Given the description of an element on the screen output the (x, y) to click on. 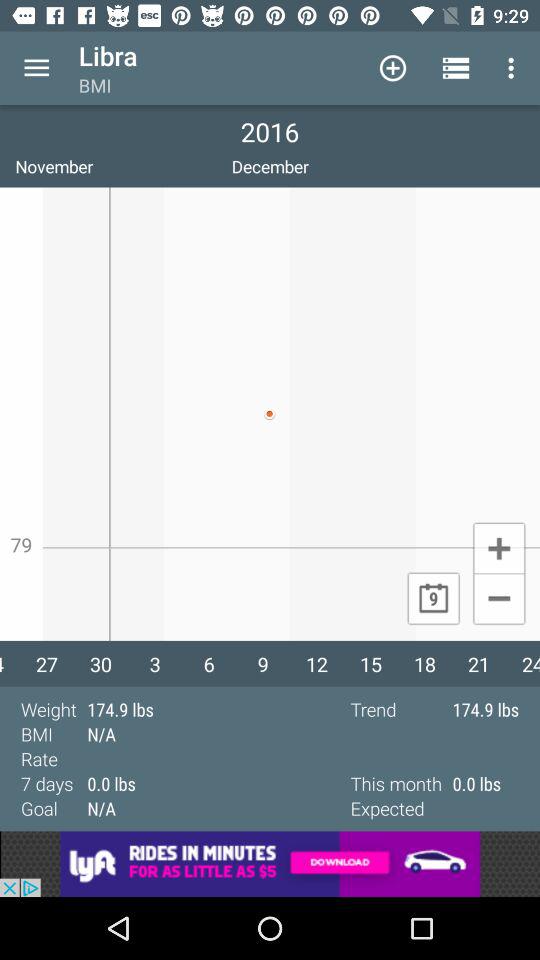
zoom in (498, 547)
